Given the description of an element on the screen output the (x, y) to click on. 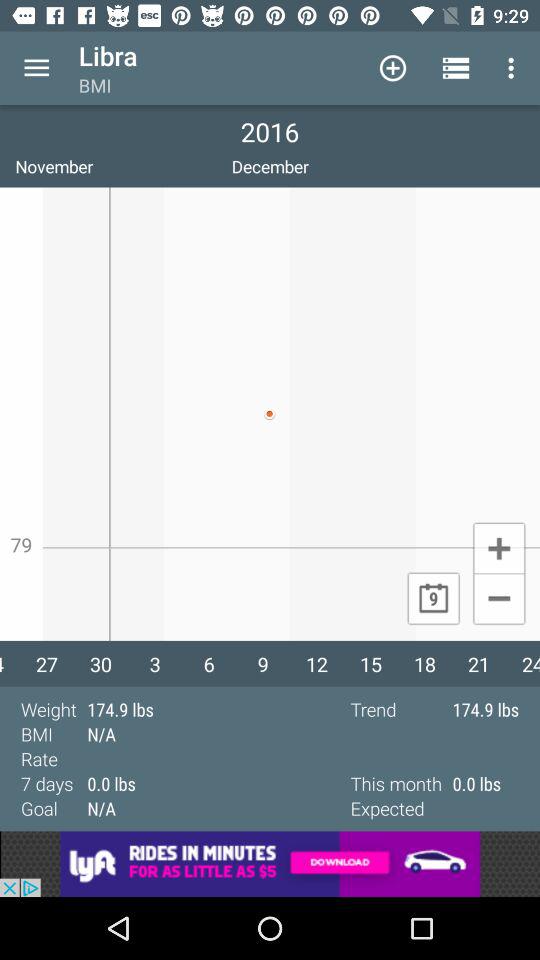
zoom in (498, 547)
